Given the description of an element on the screen output the (x, y) to click on. 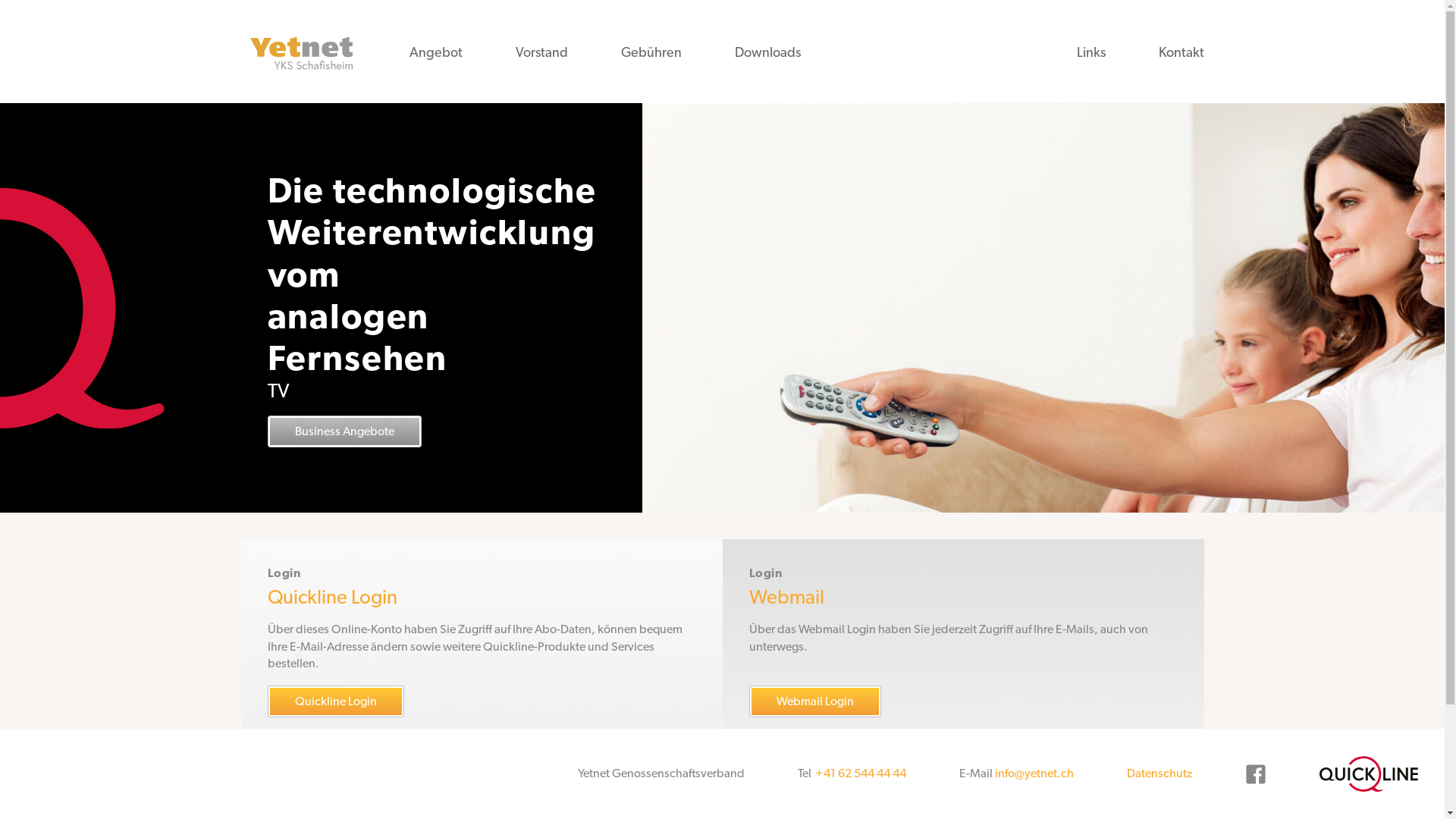
Downloads Element type: text (767, 51)
Business Angebote Element type: text (343, 389)
Vorstand Element type: text (541, 51)
Business Angebote Element type: text (343, 431)
info@yetnet.ch Element type: text (1033, 772)
Angebot Element type: text (435, 51)
Quickline Login Element type: text (334, 701)
Webmail Login Element type: text (815, 701)
Kontakt Element type: text (1180, 51)
+41 62 544 44 44 Element type: text (860, 772)
Business Angebote Element type: text (343, 410)
Datenschutz Element type: text (1159, 772)
Links Element type: text (1090, 51)
